Given the description of an element on the screen output the (x, y) to click on. 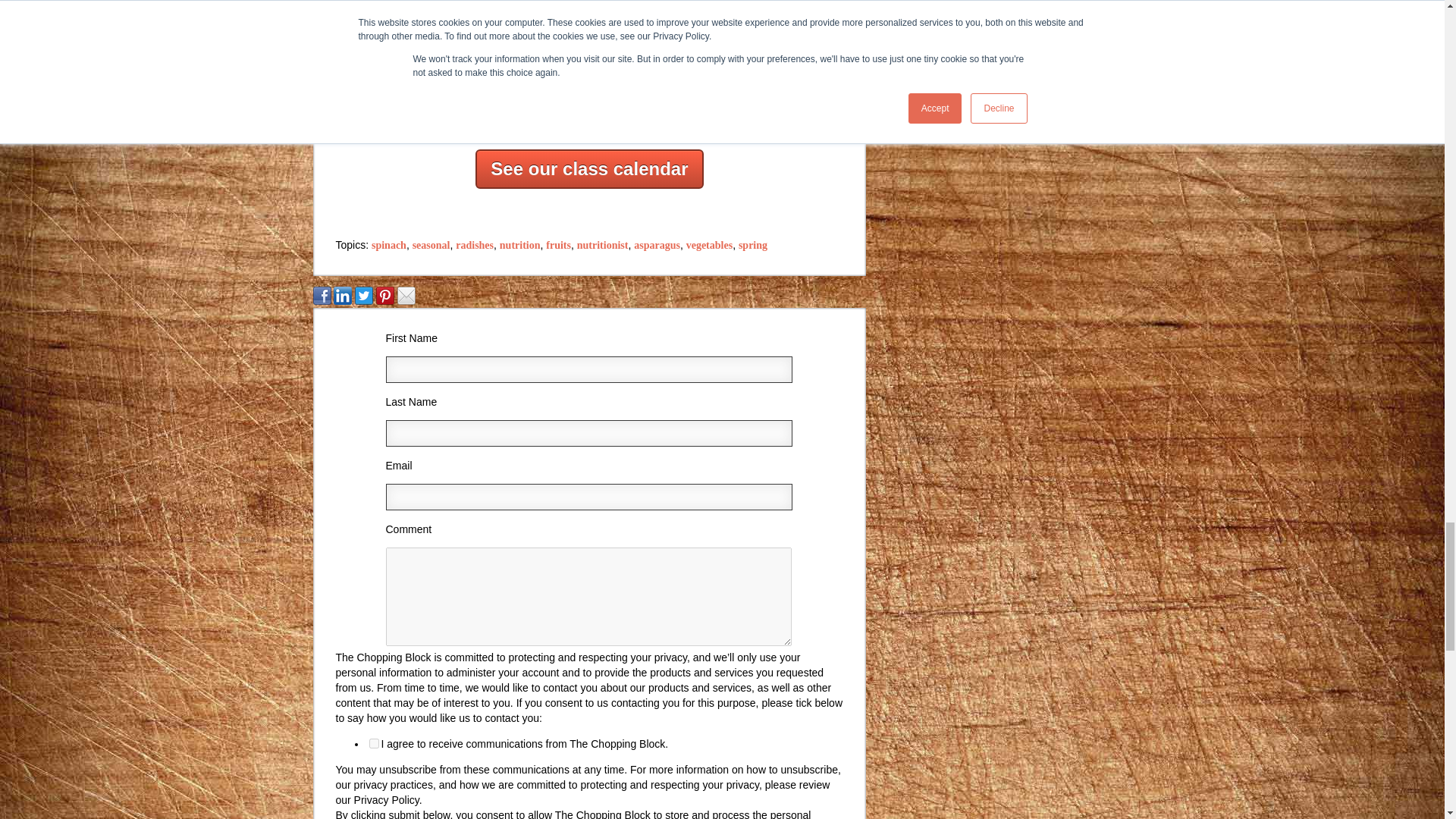
true (373, 743)
See our class calendar (589, 169)
